Given the description of an element on the screen output the (x, y) to click on. 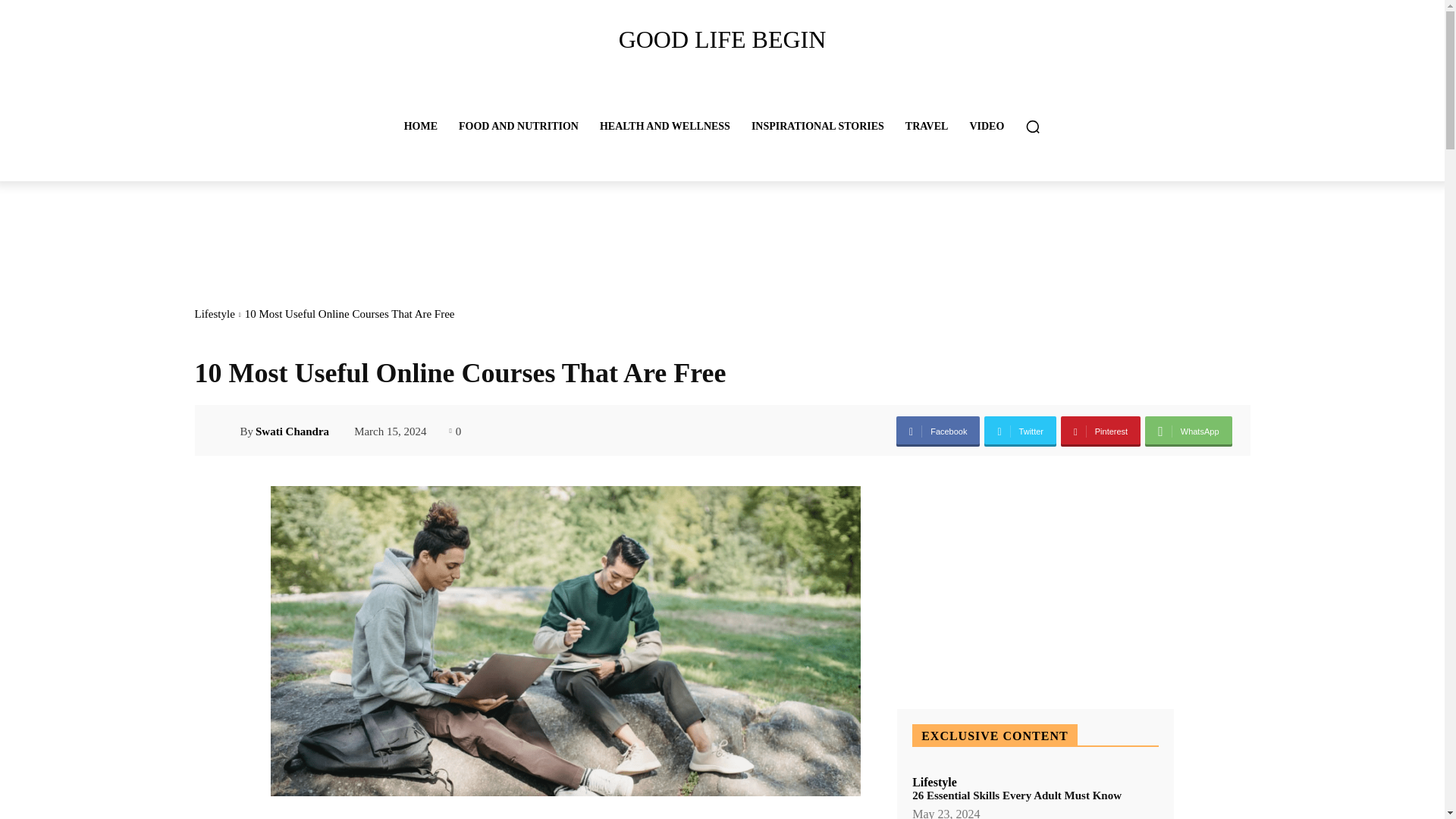
GOOD LIFE BEGIN (721, 39)
Twitter (1020, 431)
INSPIRATIONAL STORIES (818, 126)
View all posts in Lifestyle (213, 313)
HEALTH AND WELLNESS (665, 126)
Advertisement (469, 237)
Pinterest (1100, 431)
WhatsApp (1187, 431)
Lifestyle (213, 313)
Twitter (1020, 431)
HOME (420, 126)
TRAVEL (927, 126)
0 (455, 429)
Pinterest (1100, 431)
VIDEO (986, 126)
